Given the description of an element on the screen output the (x, y) to click on. 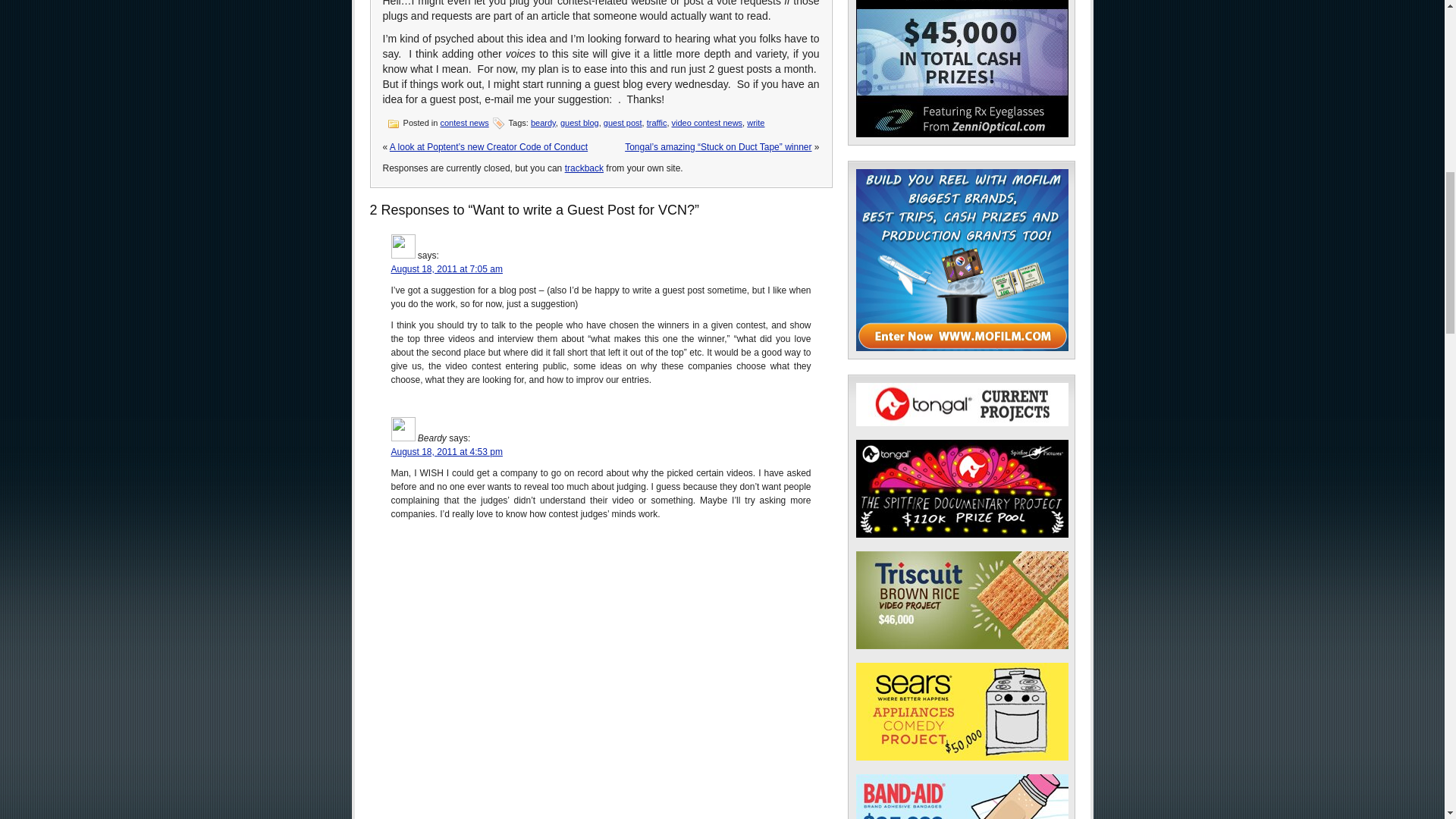
contest news (463, 122)
write (755, 122)
trackback (584, 167)
August 18, 2011 at 4:53 pm (446, 451)
beardy (543, 122)
View all posts in contest news (463, 122)
August 18, 2011 at 7:05 am (446, 268)
guest post (623, 122)
mofilm-280x235 (961, 259)
traffic (656, 122)
video contest news (706, 122)
guest blog (579, 122)
tongalbanner (961, 404)
